Given the description of an element on the screen output the (x, y) to click on. 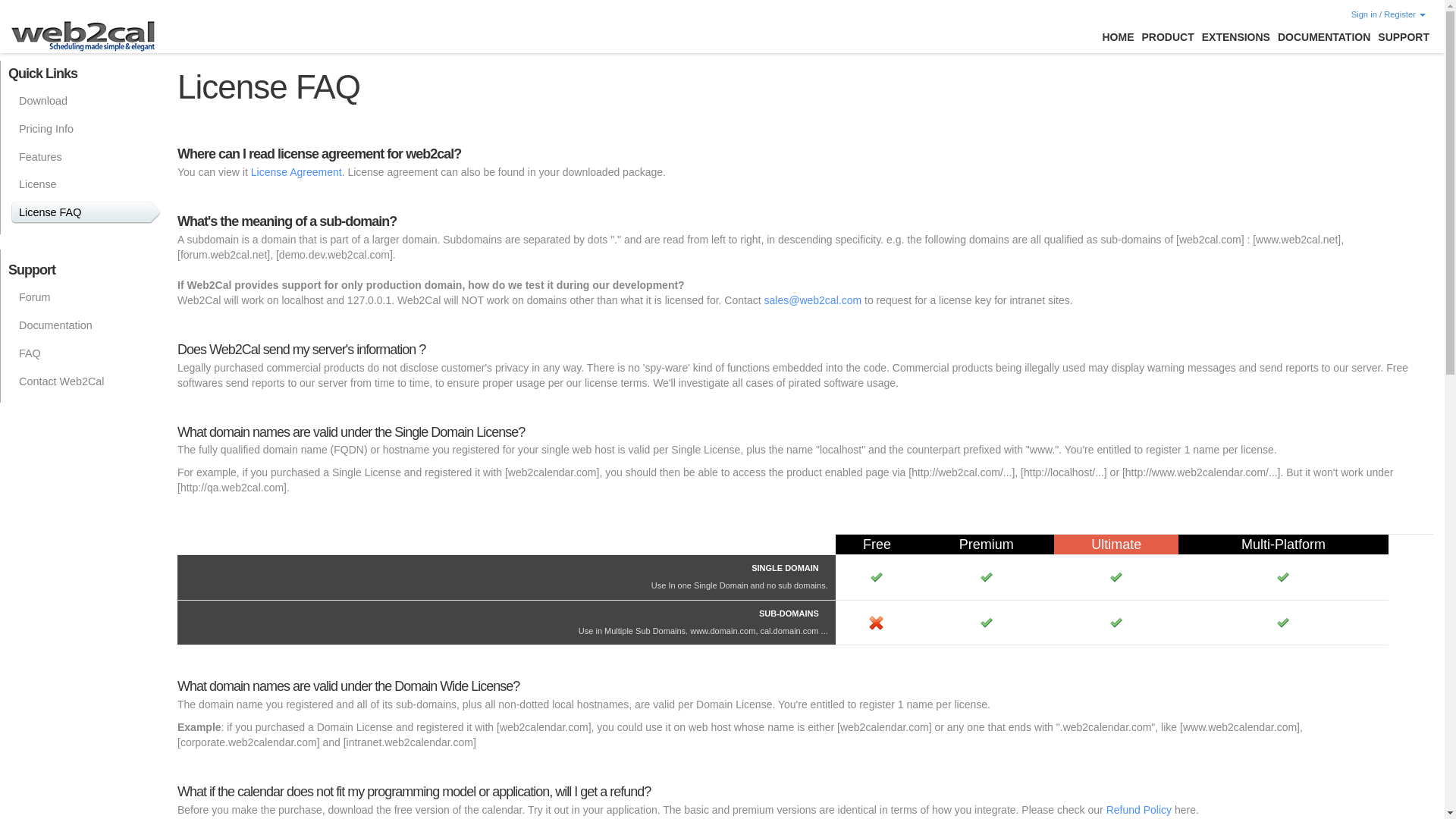
Documentation (85, 325)
FAQ (85, 353)
License FAQ (85, 212)
License Agreement (296, 172)
Forum (85, 297)
Support (1403, 36)
Pricing Info (85, 128)
Home (1117, 36)
License (85, 184)
Refund Policy (1139, 809)
